Given the description of an element on the screen output the (x, y) to click on. 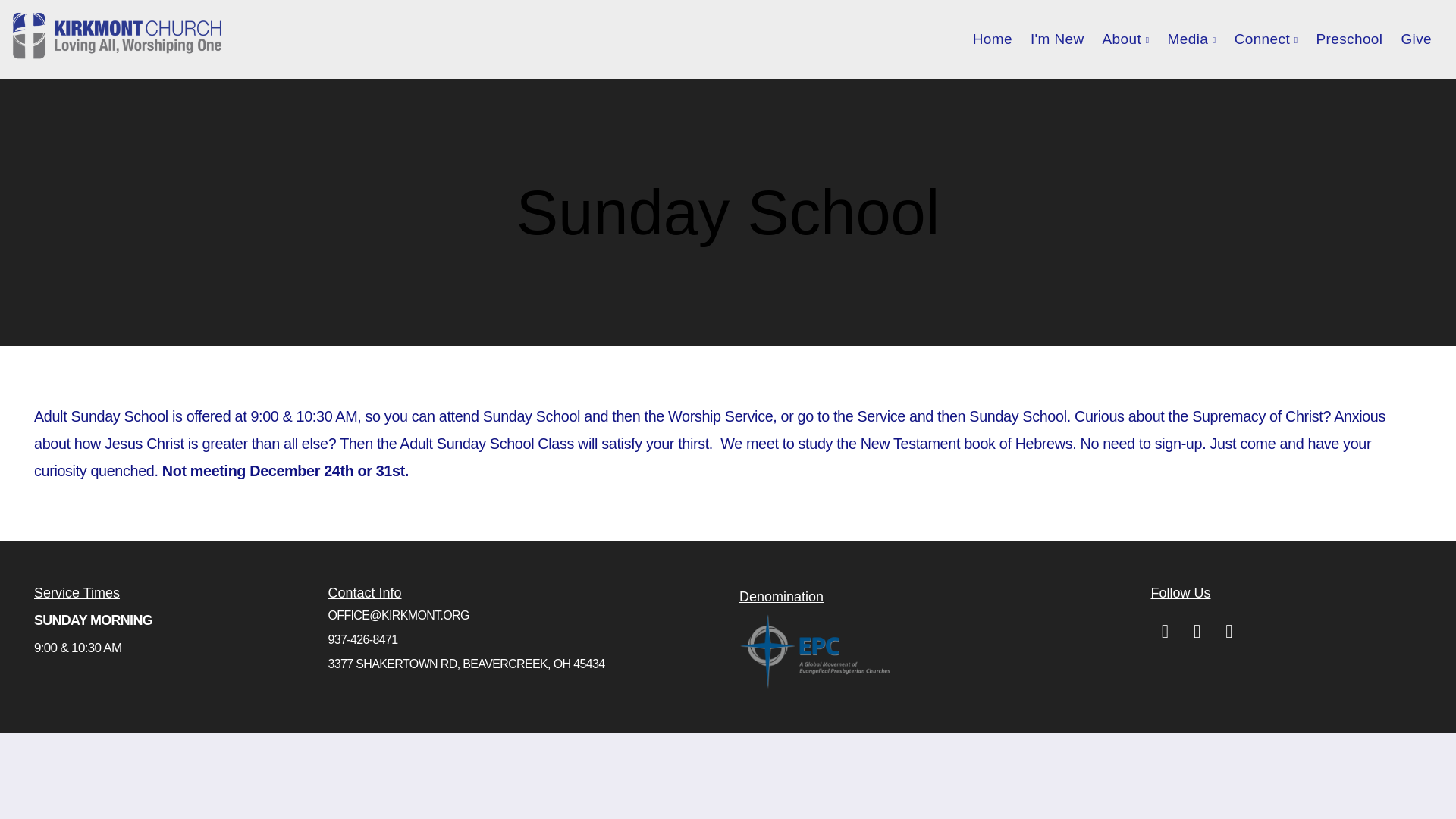
Give (1416, 39)
Media  (1192, 39)
About  (1125, 39)
Connect  (1266, 39)
Preschool (1348, 39)
Home (992, 39)
I'm New (1057, 39)
